Given the description of an element on the screen output the (x, y) to click on. 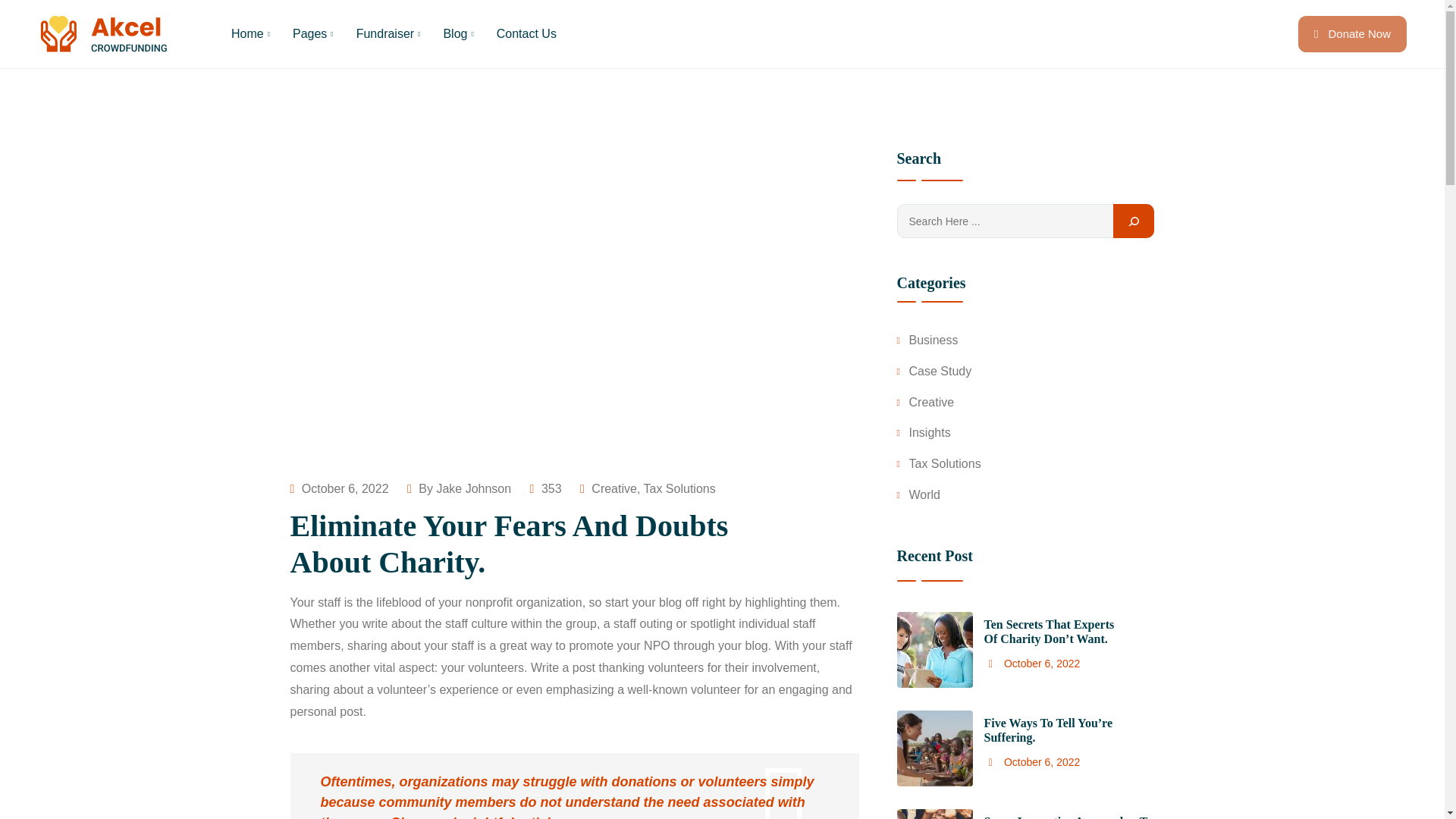
Home (250, 33)
Akcel (105, 34)
Pages (313, 33)
Fundraiser (388, 33)
Donate Now (1352, 33)
